Given the description of an element on the screen output the (x, y) to click on. 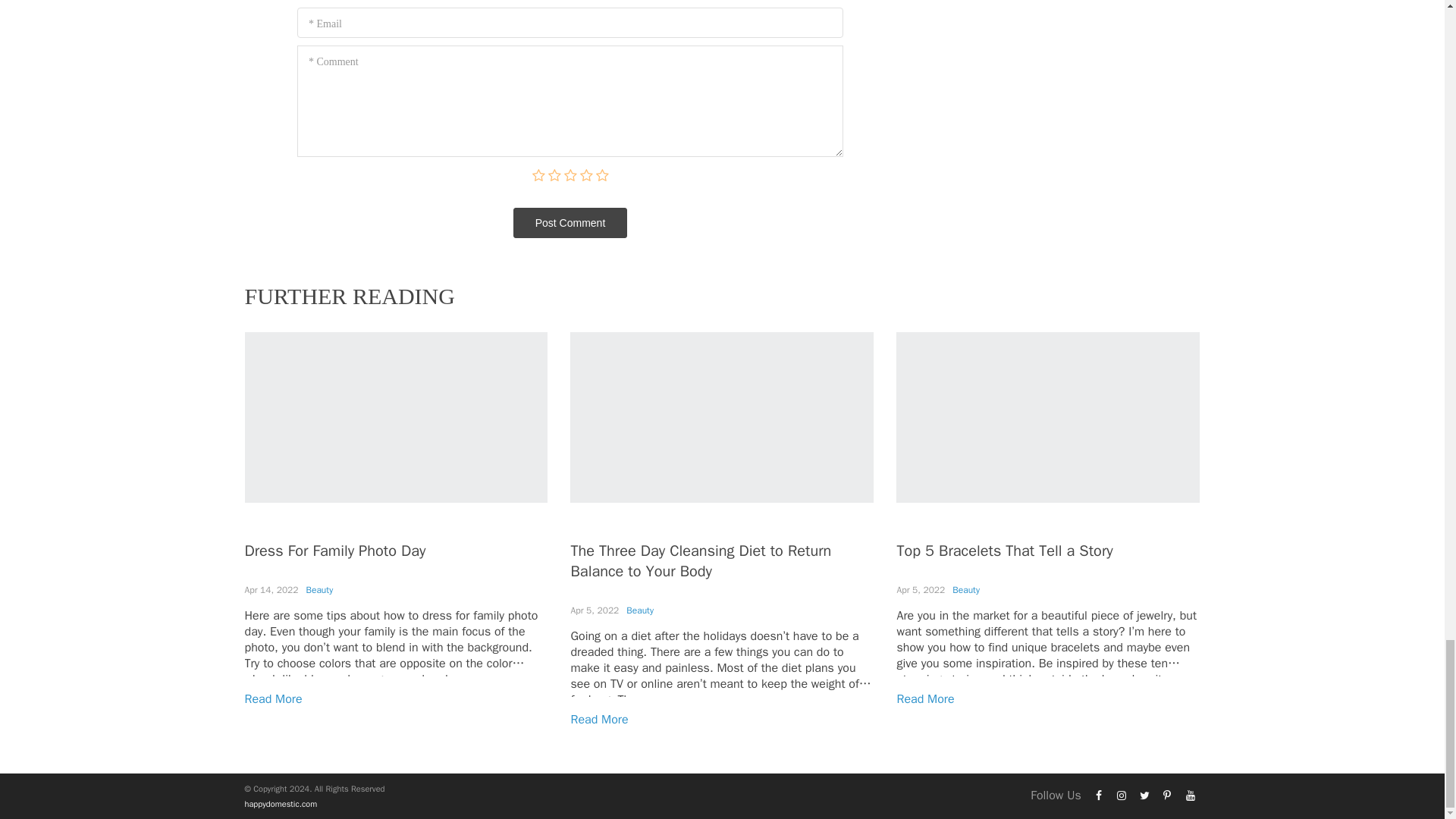
Beauty (639, 610)
Beauty (965, 589)
Read More (598, 719)
The Three Day Cleansing Diet to Return Balance to Your Body (700, 560)
Read More (924, 698)
Read More (272, 698)
Beauty (319, 589)
Dress For Family Photo Day (334, 550)
Top 5 Bracelets That Tell a Story (1004, 550)
